Given the description of an element on the screen output the (x, y) to click on. 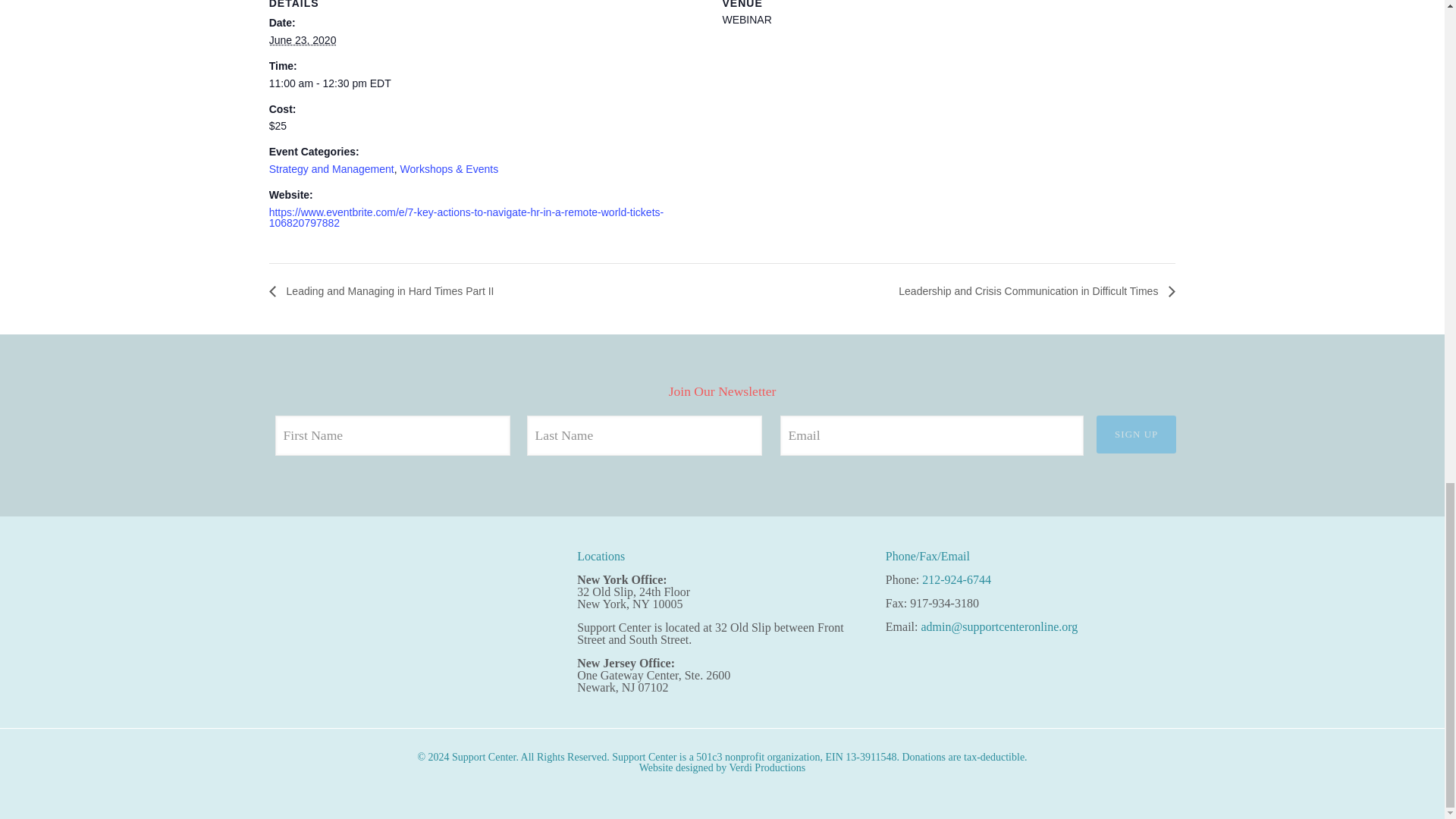
LinkedIn (376, 570)
Sign Up (1136, 434)
Facebook (333, 570)
2020-06-23 (302, 39)
2020-06-23 (486, 82)
